Given the description of an element on the screen output the (x, y) to click on. 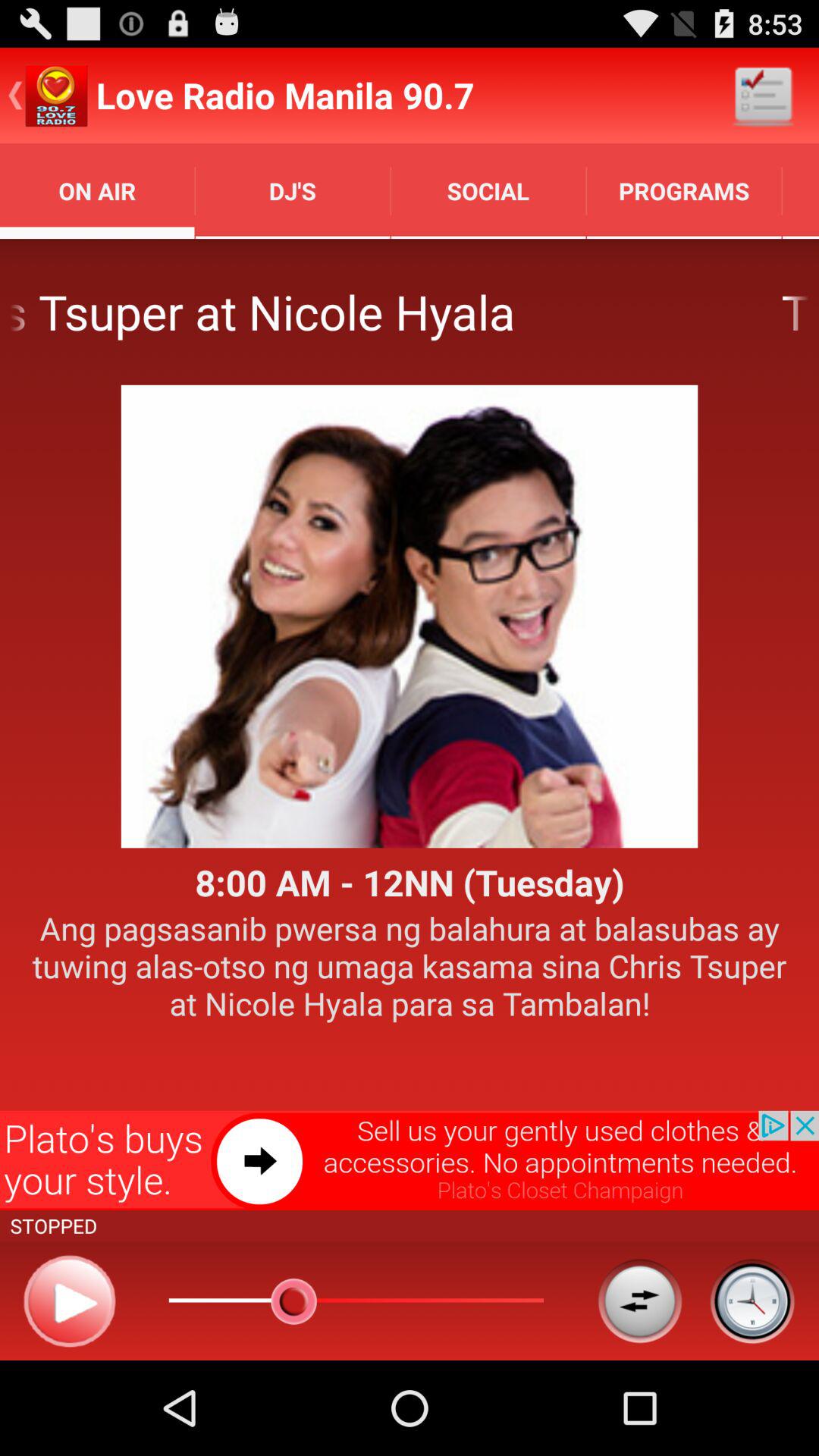
to shuffle (639, 1300)
